Given the description of an element on the screen output the (x, y) to click on. 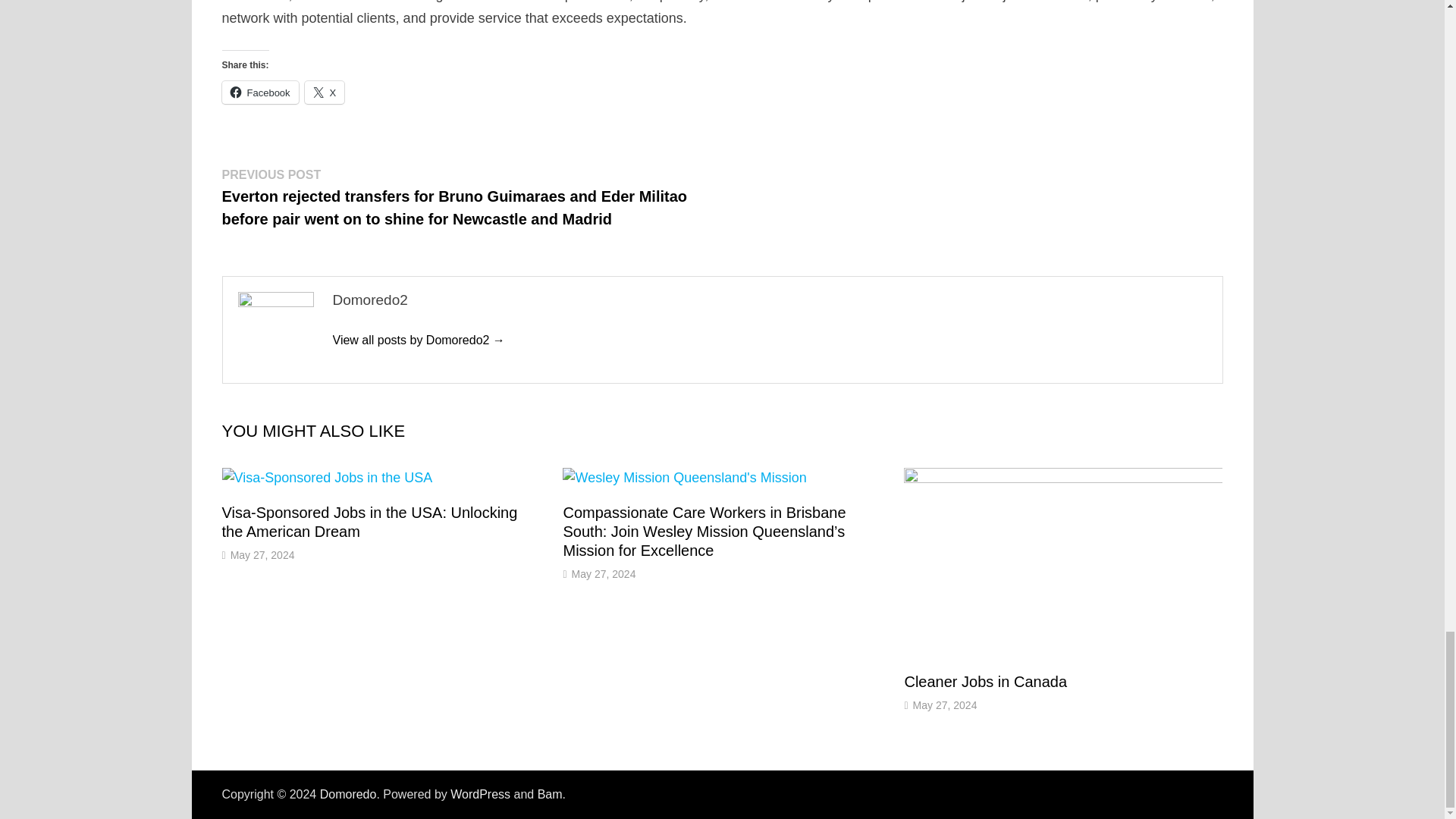
Click to share on Facebook (259, 92)
Click to share on X (324, 92)
Domoredo2 (417, 339)
X (324, 92)
Facebook (259, 92)
Cleaner Jobs in Canada (985, 681)
Domoredo (348, 793)
Visa-Sponsored Jobs in the USA: Unlocking the American Dream (368, 521)
